Given the description of an element on the screen output the (x, y) to click on. 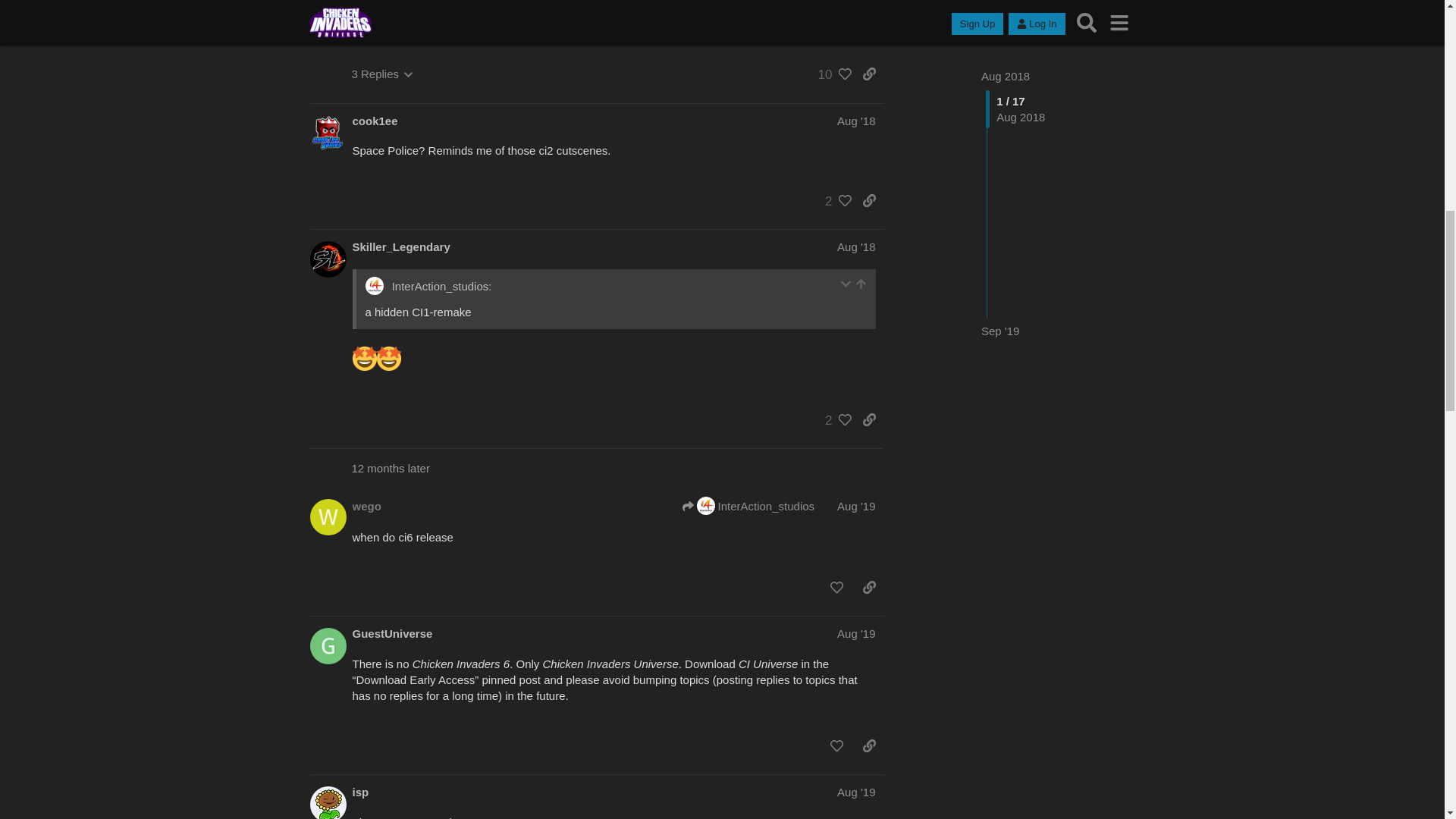
3 Replies (381, 73)
10 (829, 73)
